Given the description of an element on the screen output the (x, y) to click on. 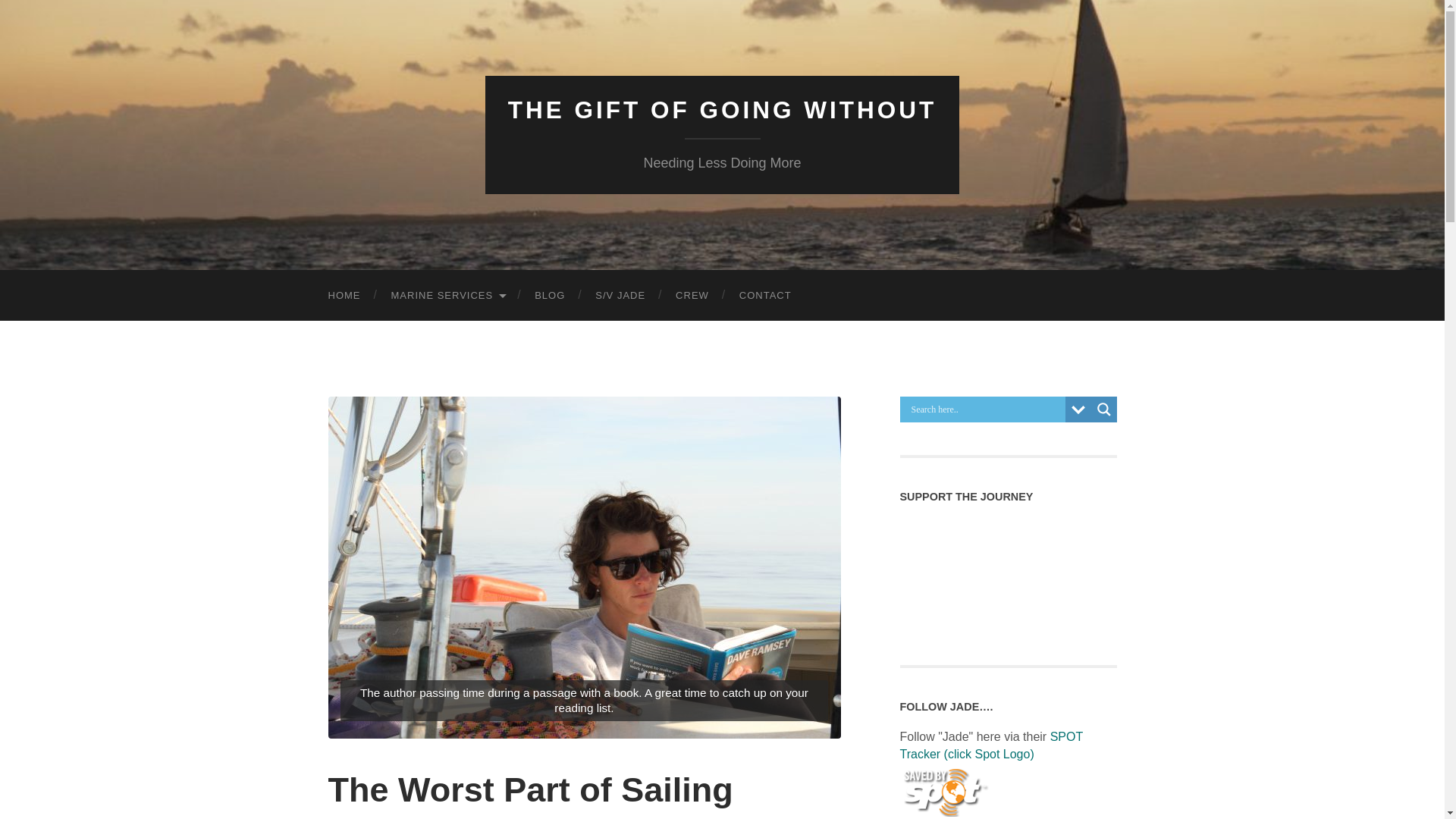
BLOG (549, 295)
Patreon Widget (1007, 575)
CONTACT (764, 295)
CREW (692, 295)
HOME (344, 295)
THE GIFT OF GOING WITHOUT (722, 109)
MARINE SERVICES (447, 295)
